Given the description of an element on the screen output the (x, y) to click on. 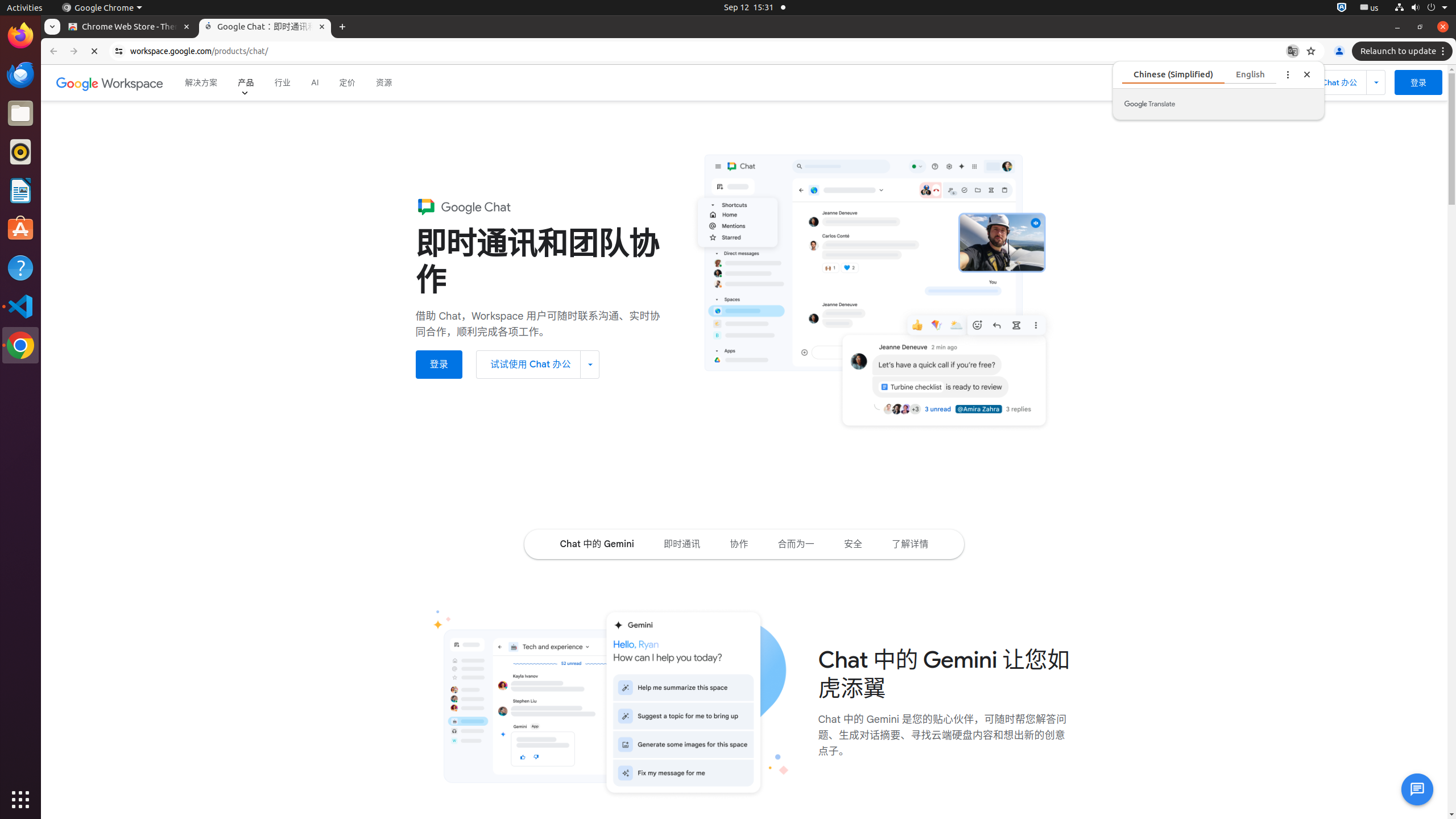
LibreOffice Writer Element type: push-button (20, 190)
Google Workspace Element type: link (110, 83)
Thunderbird Mail Element type: push-button (20, 74)
Forward Element type: push-button (73, 50)
Translate options Element type: push-button (1287, 74)
